Given the description of an element on the screen output the (x, y) to click on. 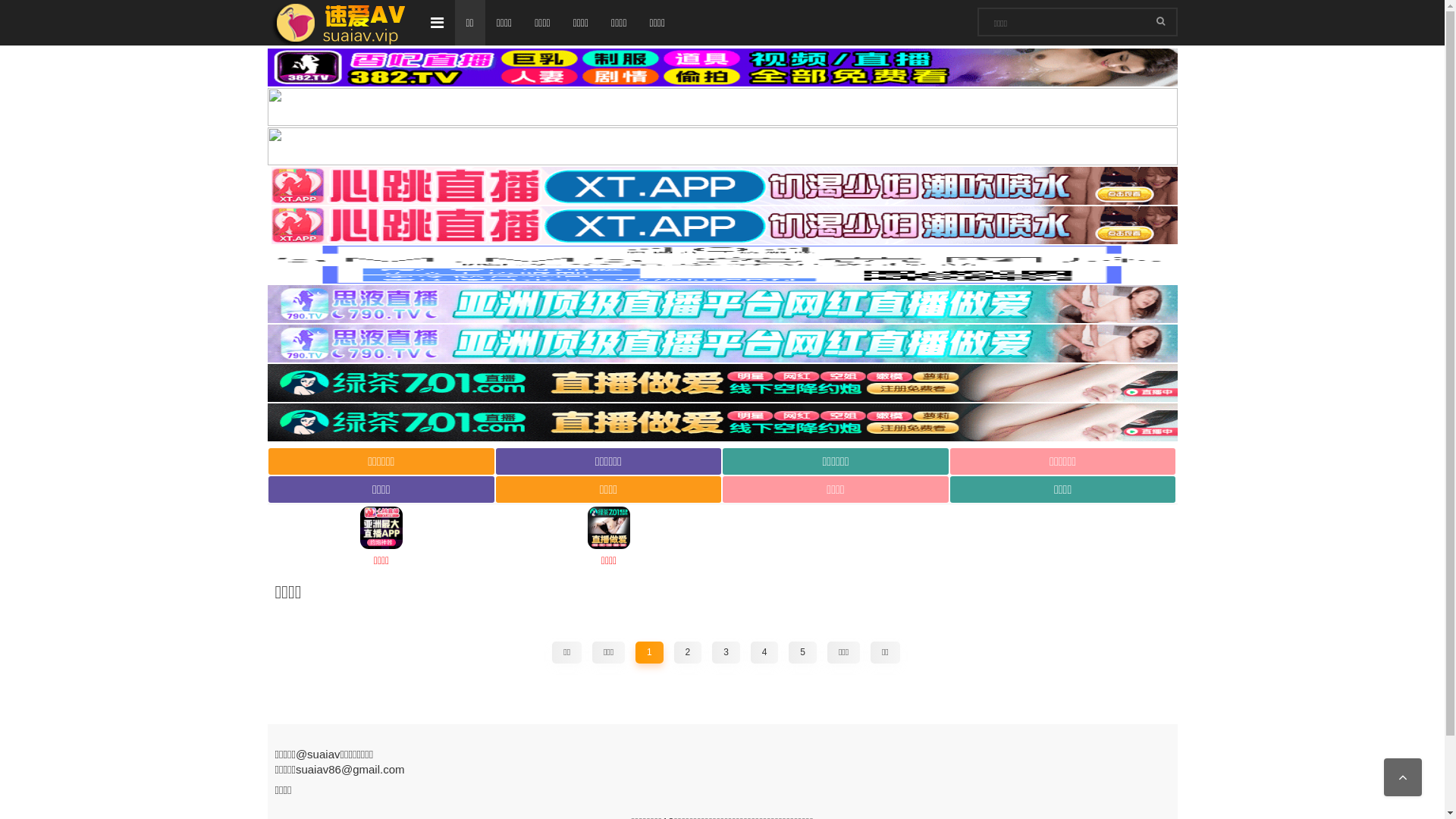
3 Element type: text (726, 652)
4 Element type: text (764, 652)
2 Element type: text (688, 652)
5 Element type: text (802, 652)
1 Element type: text (649, 652)
